Given the description of an element on the screen output the (x, y) to click on. 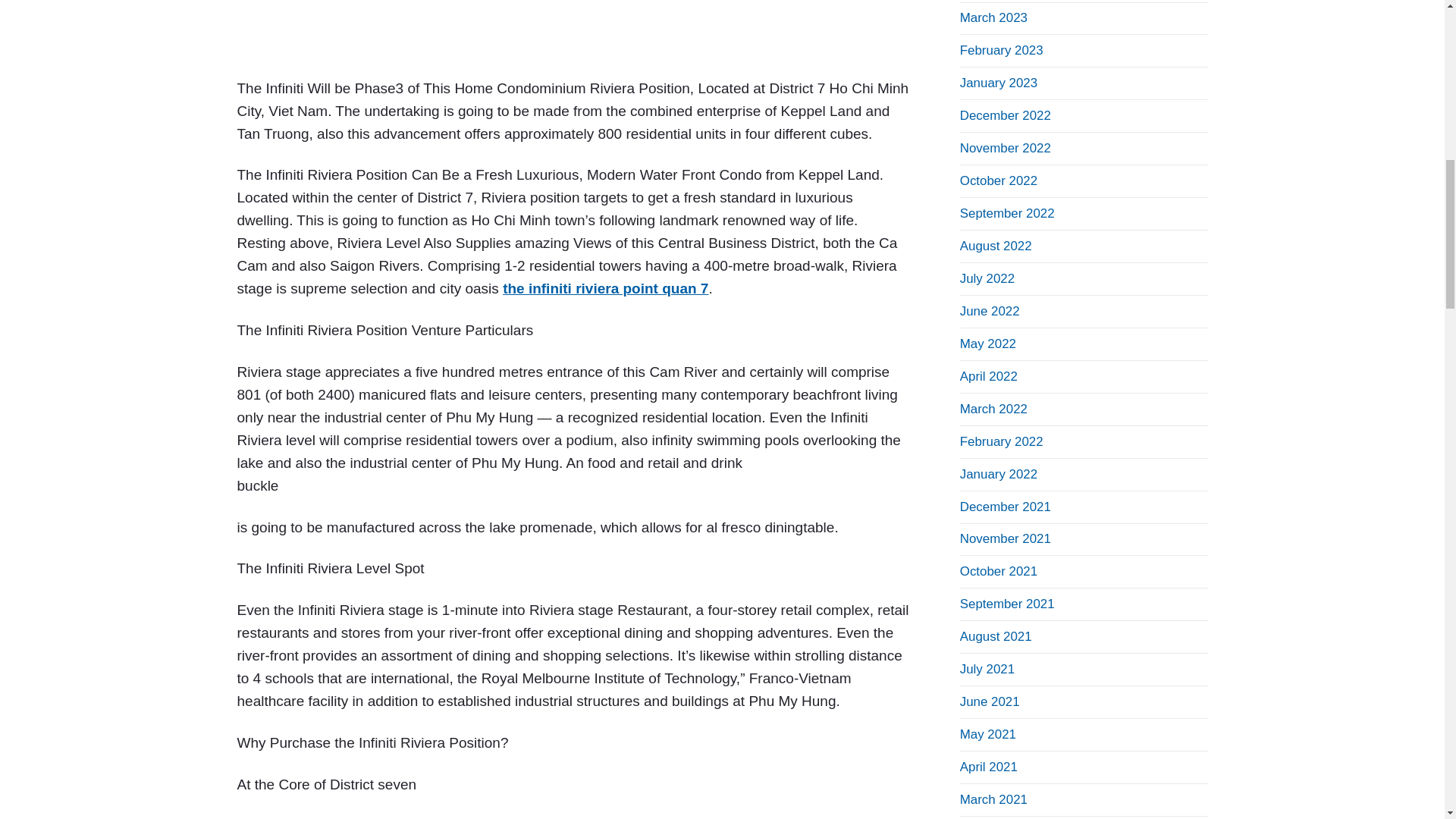
the infiniti riviera point quan 7 (604, 288)
August 2022 (995, 246)
December 2022 (1005, 115)
November 2022 (1005, 147)
October 2022 (997, 180)
residential (571, 27)
September 2022 (1006, 213)
June 2022 (989, 310)
March 2023 (993, 17)
July 2022 (986, 278)
February 2023 (1001, 50)
January 2023 (997, 83)
